Given the description of an element on the screen output the (x, y) to click on. 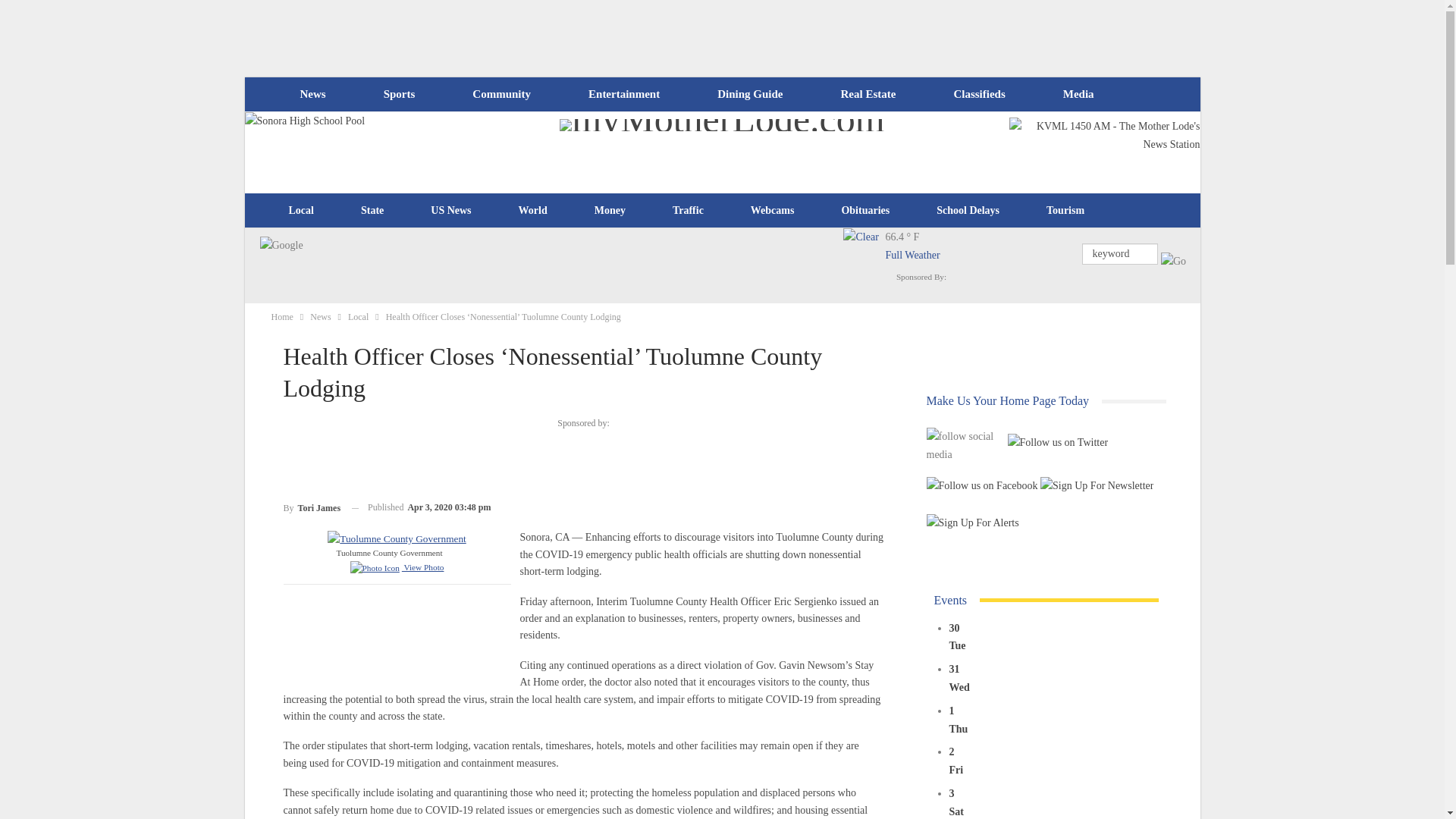
World (532, 210)
Media (1078, 93)
Webcams (772, 210)
Logo (396, 536)
Traffic (687, 210)
Submit (1173, 261)
Dining Guide (749, 93)
US News (451, 210)
Classifieds (979, 93)
Local (300, 210)
Tourism (1065, 210)
Browse Author Articles (311, 507)
